Given the description of an element on the screen output the (x, y) to click on. 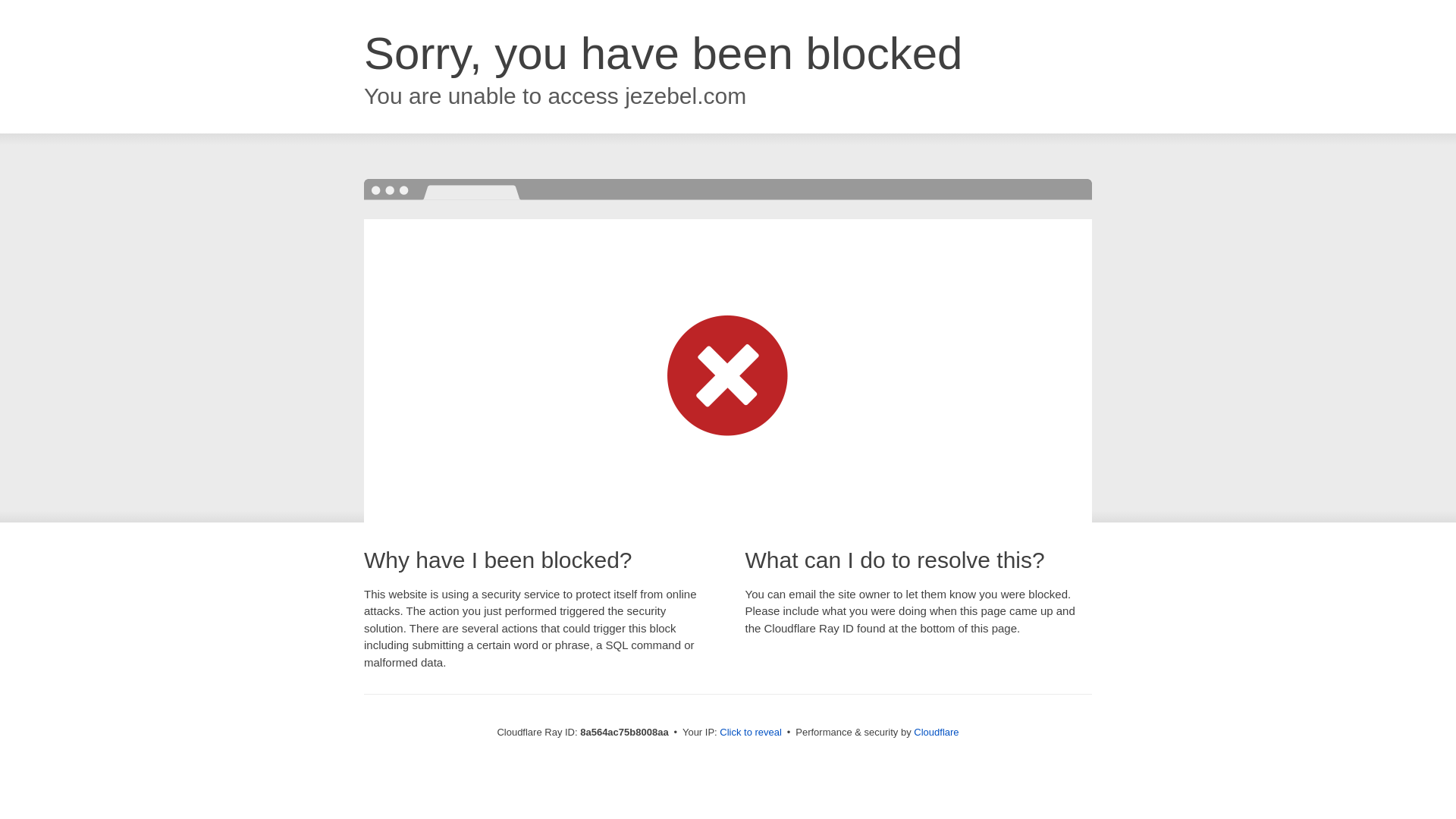
Cloudflare (936, 731)
Click to reveal (750, 732)
